Given the description of an element on the screen output the (x, y) to click on. 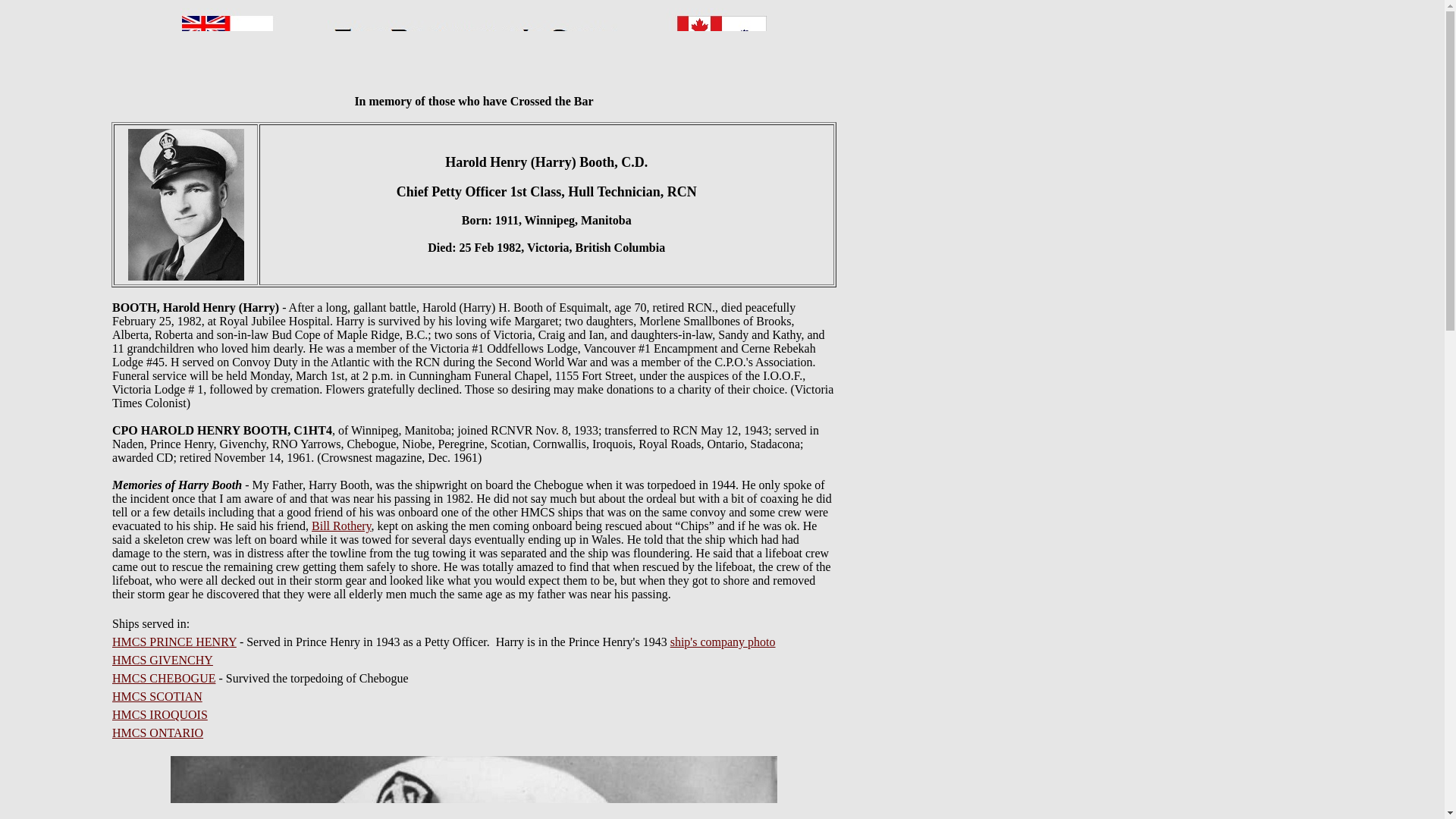
HMCS CHEBOGUE (163, 677)
HMCS ONTARIO (157, 732)
ship's company photo (722, 641)
HMCS PRINCE HENRY (173, 641)
HMCS GIVENCHY (162, 659)
HMCS IROQUOIS (160, 714)
HMCS SCOTIAN (157, 696)
Bill Rothery (341, 525)
